Given the description of an element on the screen output the (x, y) to click on. 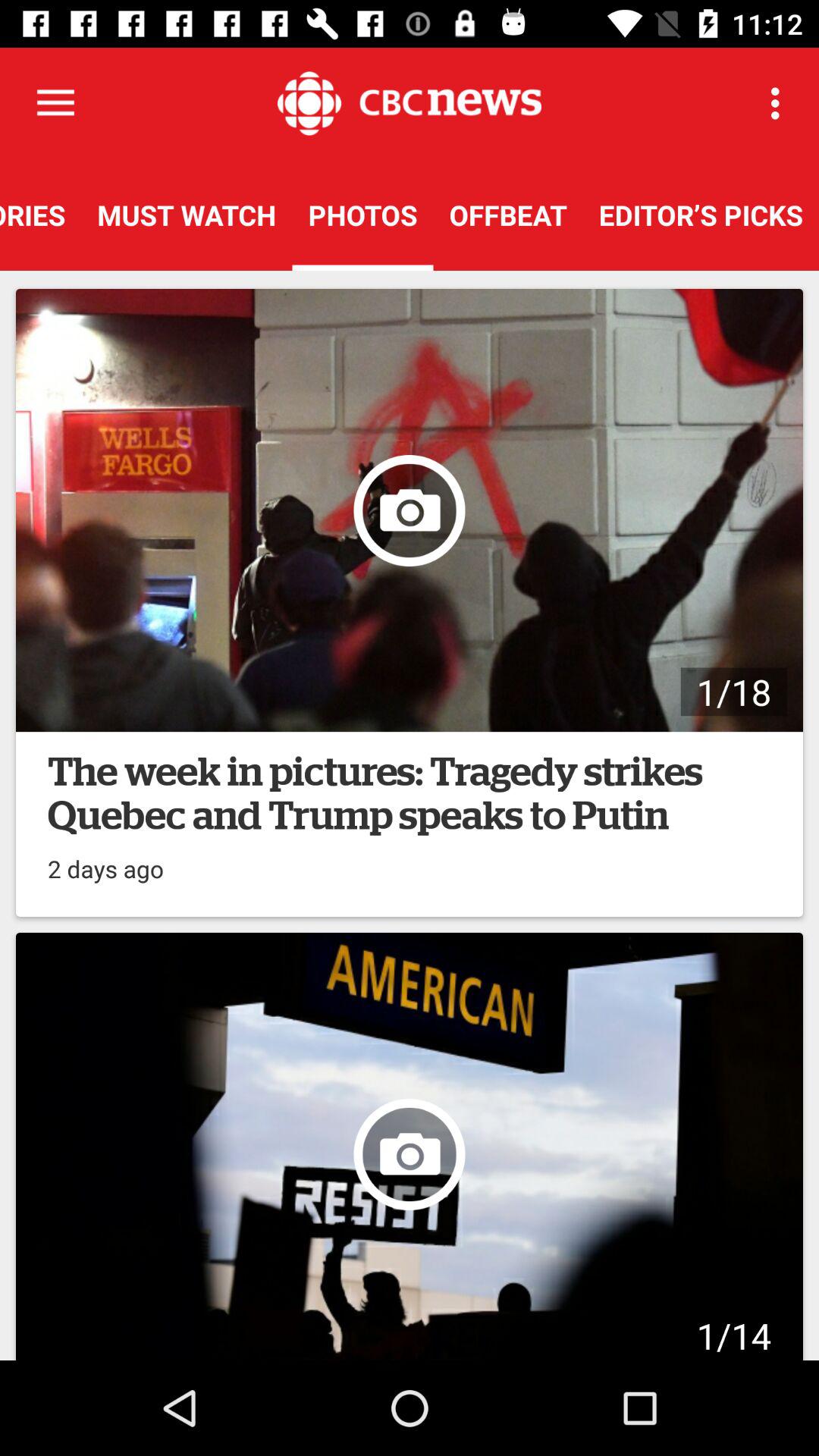
scroll until 2 days ago item (105, 860)
